Given the description of an element on the screen output the (x, y) to click on. 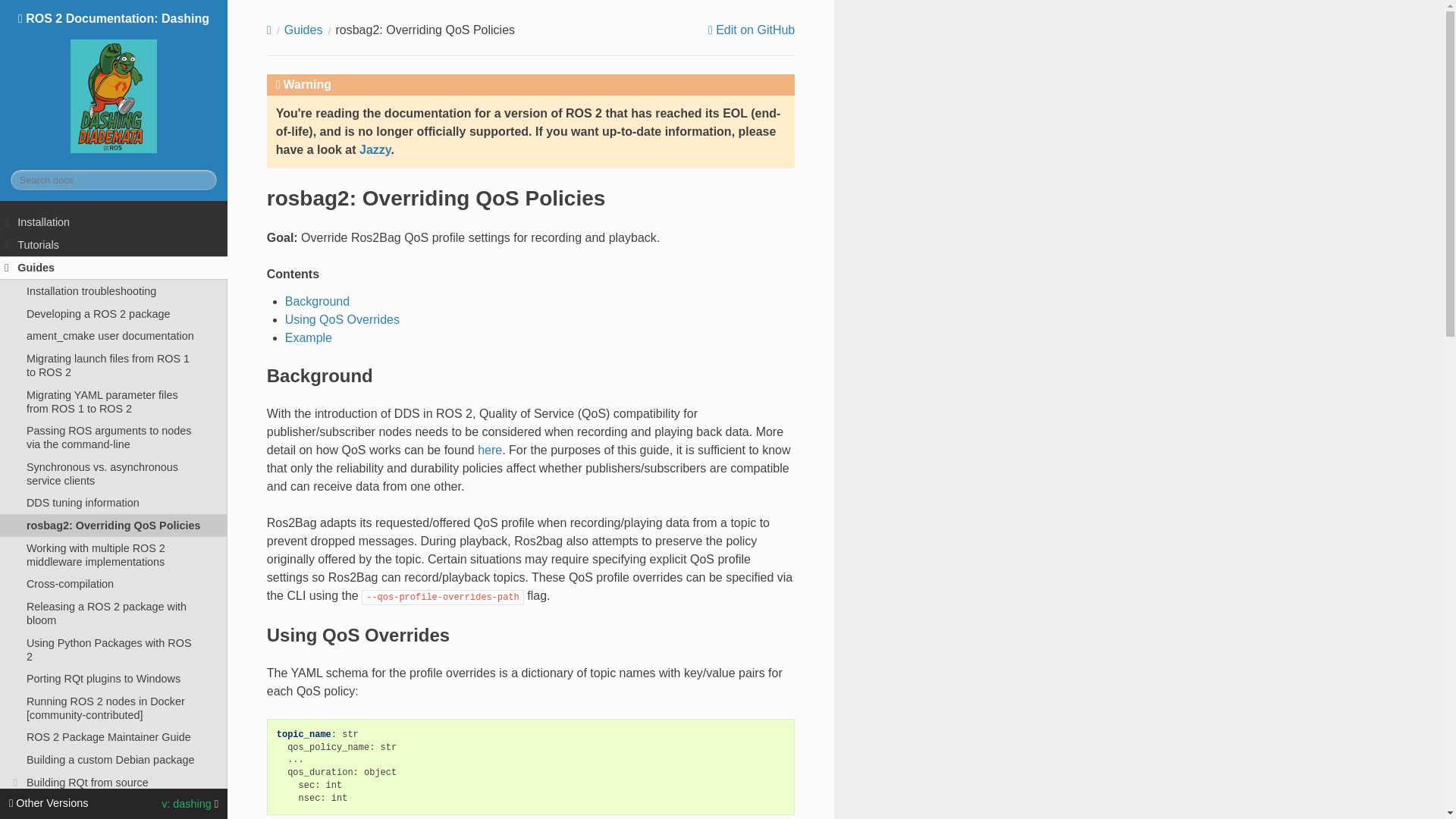
Installation (113, 221)
ROS 2 Documentation: Dashing (113, 84)
Tutorials (113, 244)
